Given the description of an element on the screen output the (x, y) to click on. 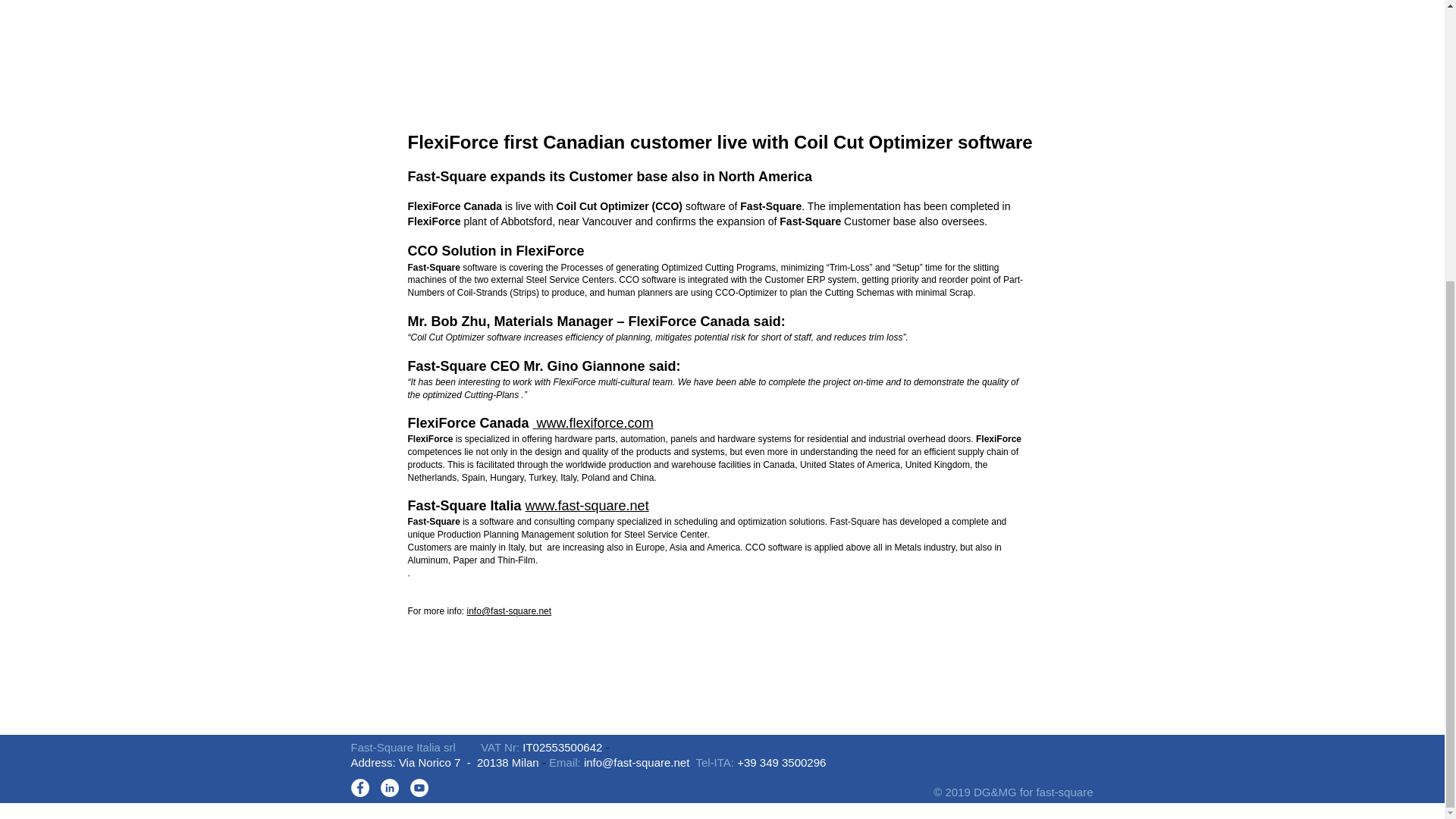
www.fast-square.net (587, 505)
www.fl (556, 422)
exiforce.com (614, 422)
